Given the description of an element on the screen output the (x, y) to click on. 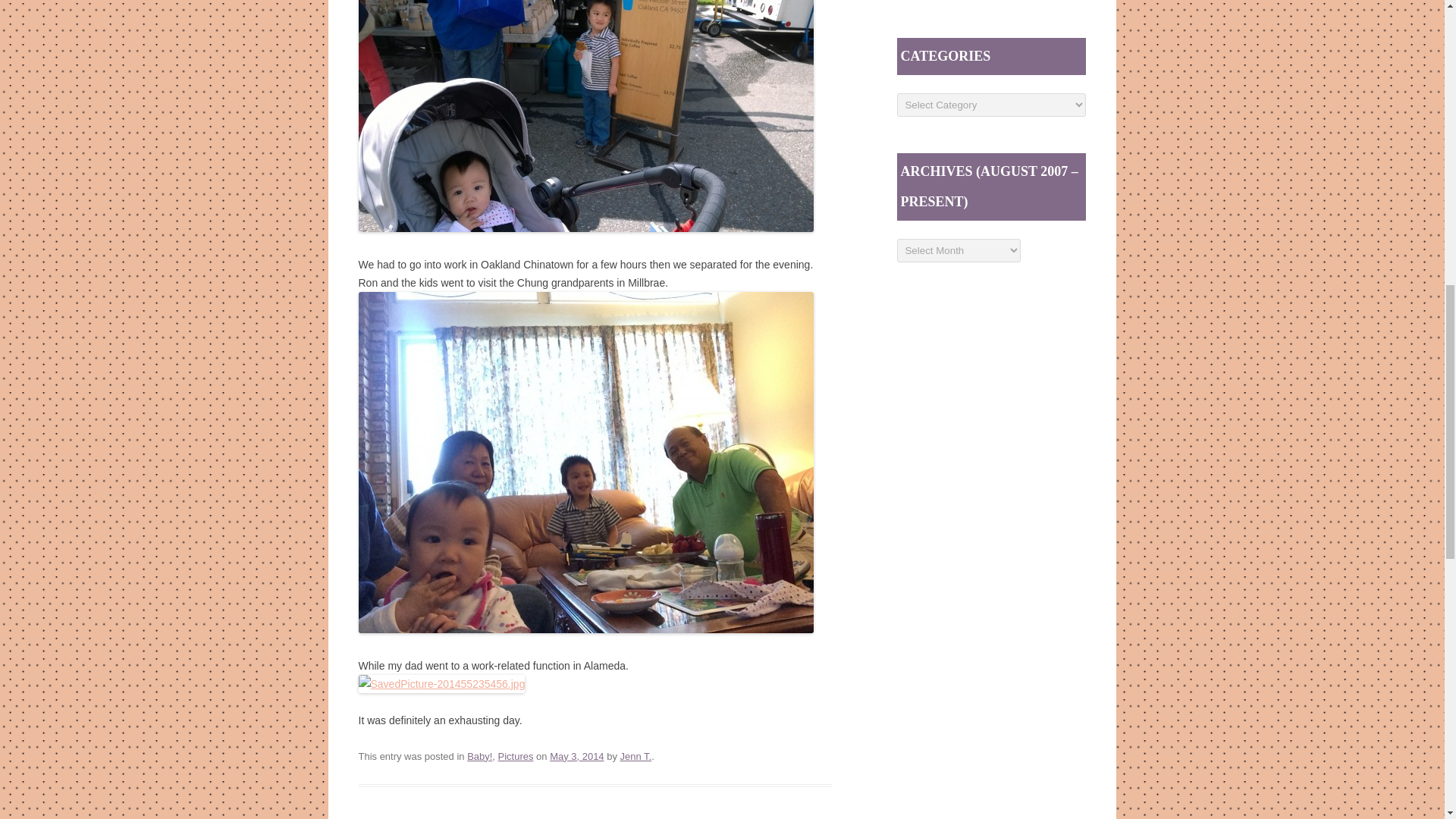
Baby! (479, 756)
View all posts by Jenn T. (636, 756)
May 3, 2014 (577, 756)
11:53 pm (577, 756)
Pictures (515, 756)
Jenn T. (636, 756)
